Given the description of an element on the screen output the (x, y) to click on. 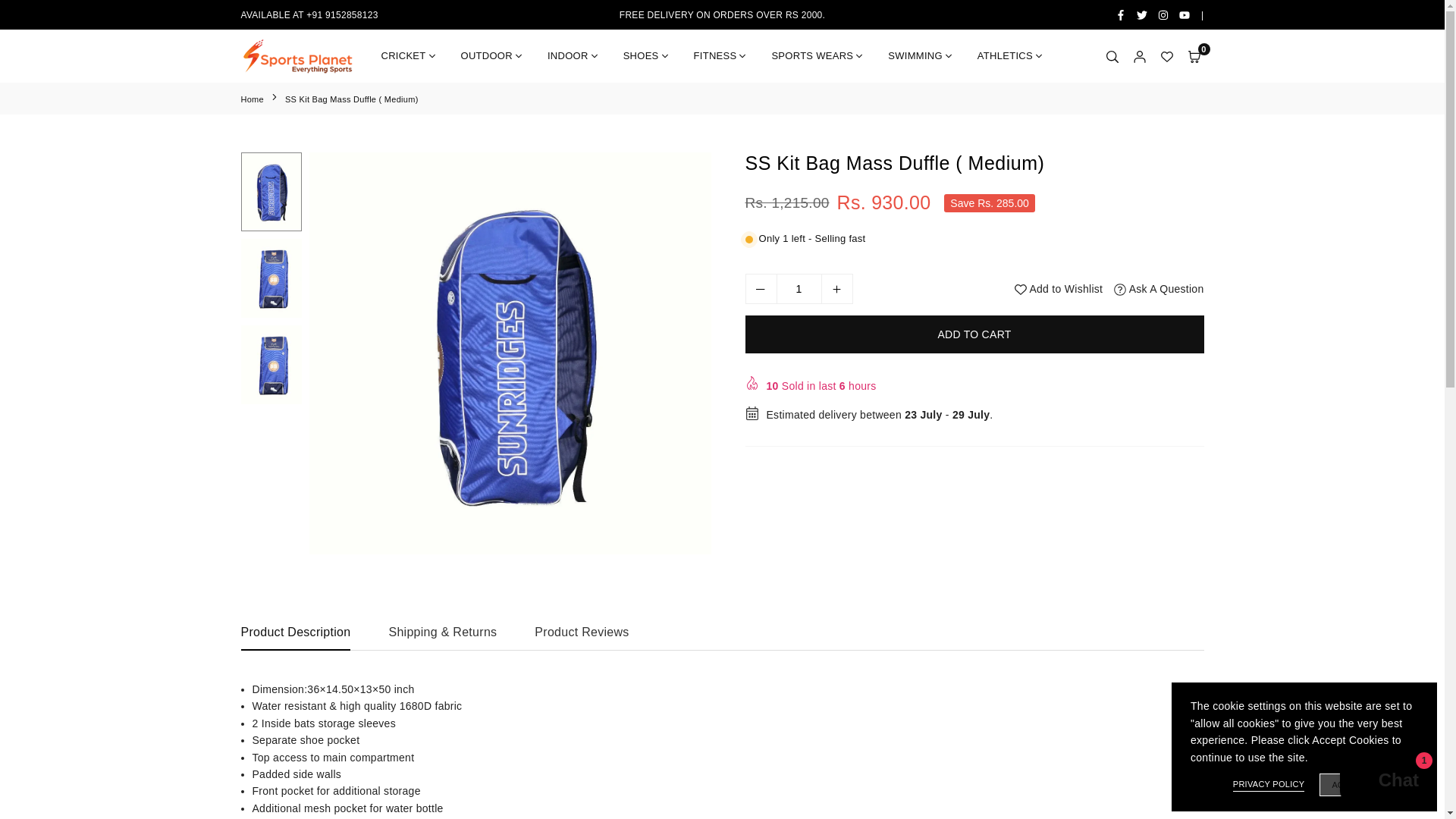
TWITTER (1142, 14)
SEARCH (1111, 56)
SPORTS PLANET - EVERYTHING SPORTS (298, 56)
Sports Planet - Everything Sports on Instagram (1163, 14)
Sports Planet - Everything Sports on YouTube (1184, 14)
ACCOUNT (1139, 56)
INSTAGRAM (1163, 14)
Quantity (797, 288)
Back to the home page (253, 99)
SHOES (646, 56)
1 (799, 288)
FITNESS (721, 56)
WISHLIST (1166, 56)
Sports Planet - Everything Sports on Twitter (1142, 14)
OUTDOOR (492, 56)
